Given the description of an element on the screen output the (x, y) to click on. 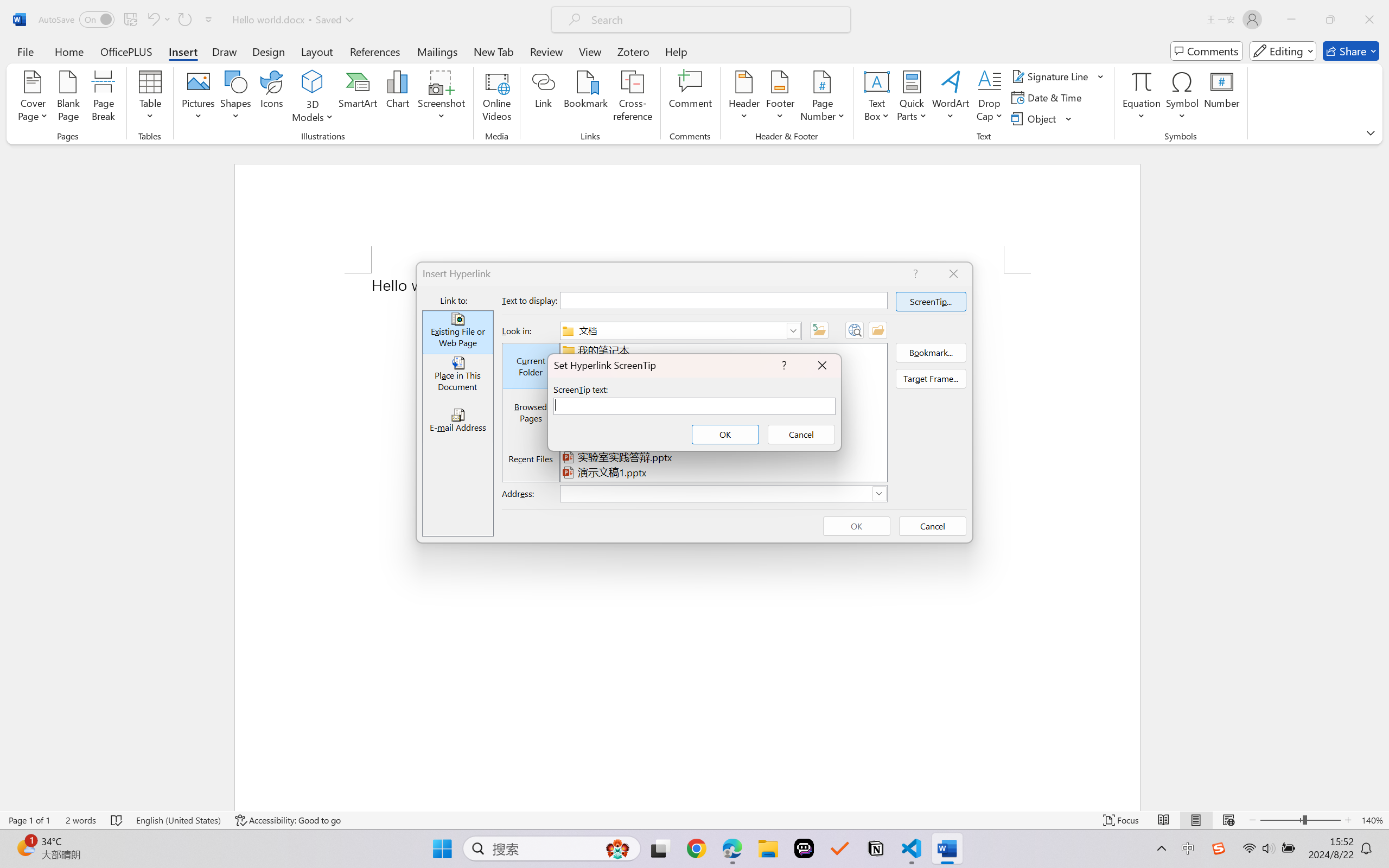
Object... (1035, 118)
Signature Line (1051, 75)
Browse for File (877, 330)
Accessibility Checker Accessibility: Good to go (288, 819)
Save (130, 19)
SmartArt... (358, 97)
Header (743, 97)
Existing File or Web Page (457, 332)
Help (675, 51)
Home (69, 51)
